Given the description of an element on the screen output the (x, y) to click on. 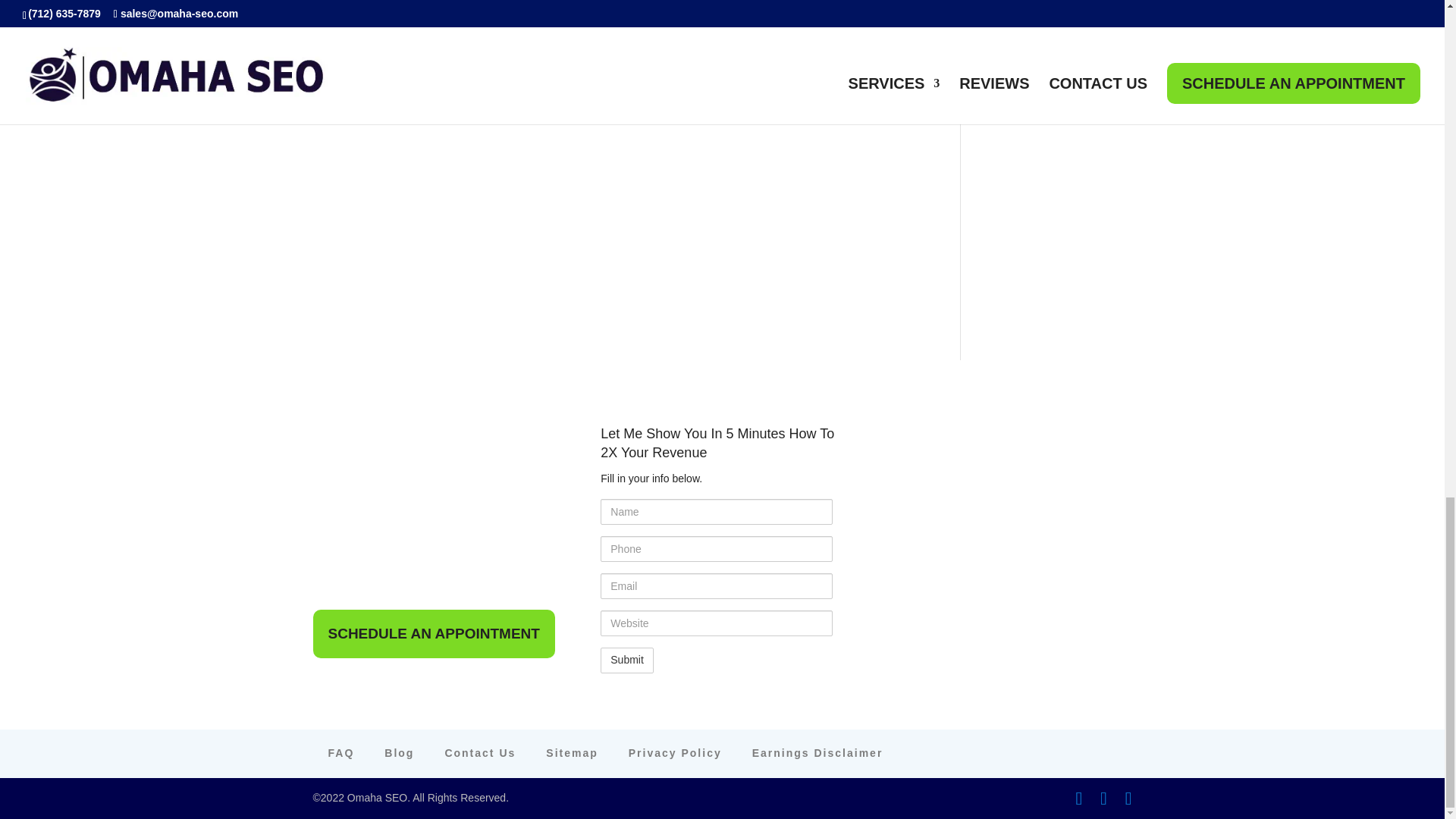
Blog (398, 752)
FAQ (340, 752)
SCHEDULE AN APPOINTMENT (433, 633)
Submit (626, 660)
Submit (626, 660)
